Given the description of an element on the screen output the (x, y) to click on. 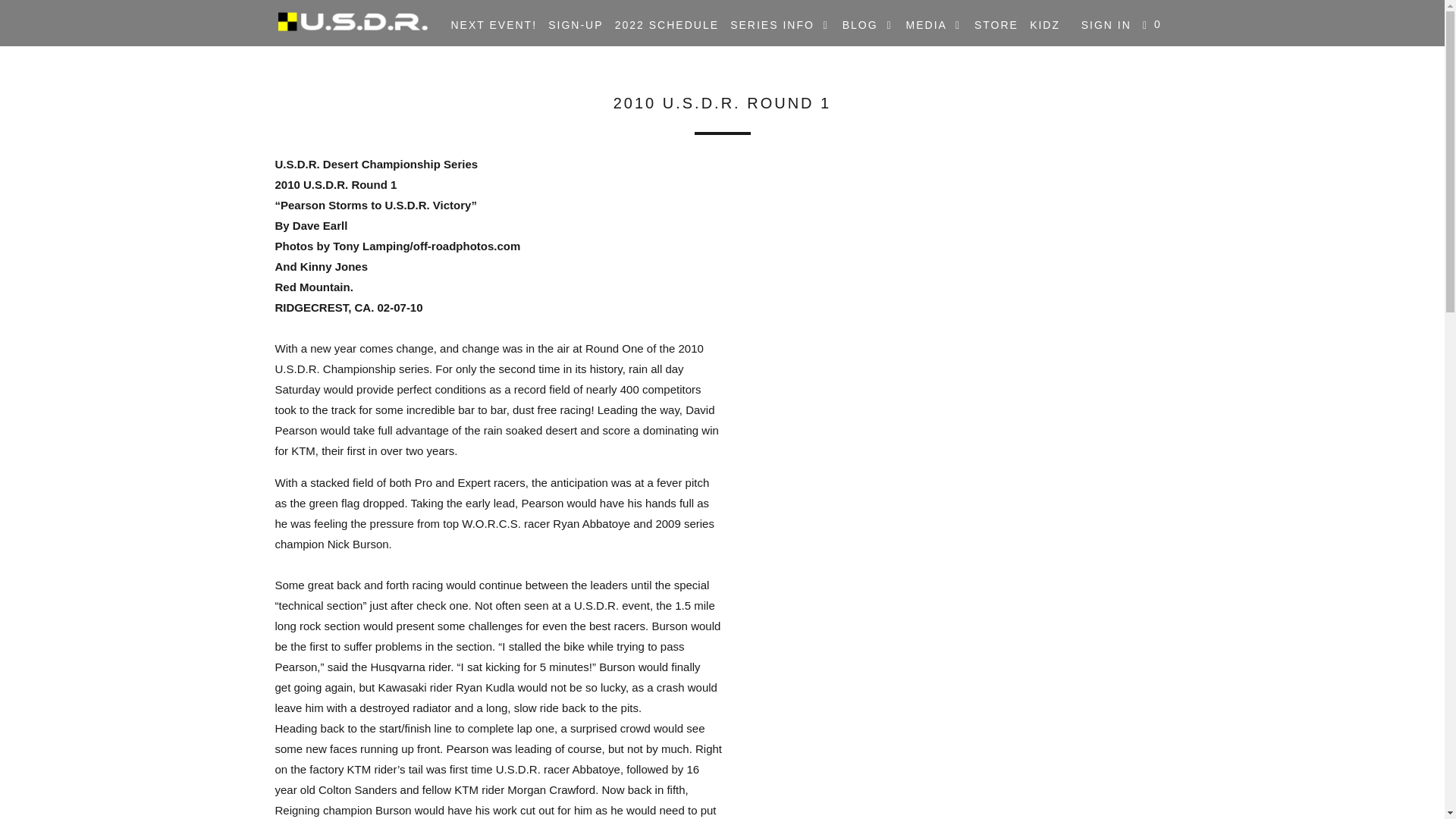
2022 SCHEDULE (666, 24)
U.S.D.R. (352, 21)
My Account  (1106, 24)
0 (1153, 25)
NEXT EVENT! (493, 24)
SIGN IN (1106, 24)
SIGN-UP (574, 24)
BLOG   (869, 25)
SERIES INFO   (779, 25)
